Given the description of an element on the screen output the (x, y) to click on. 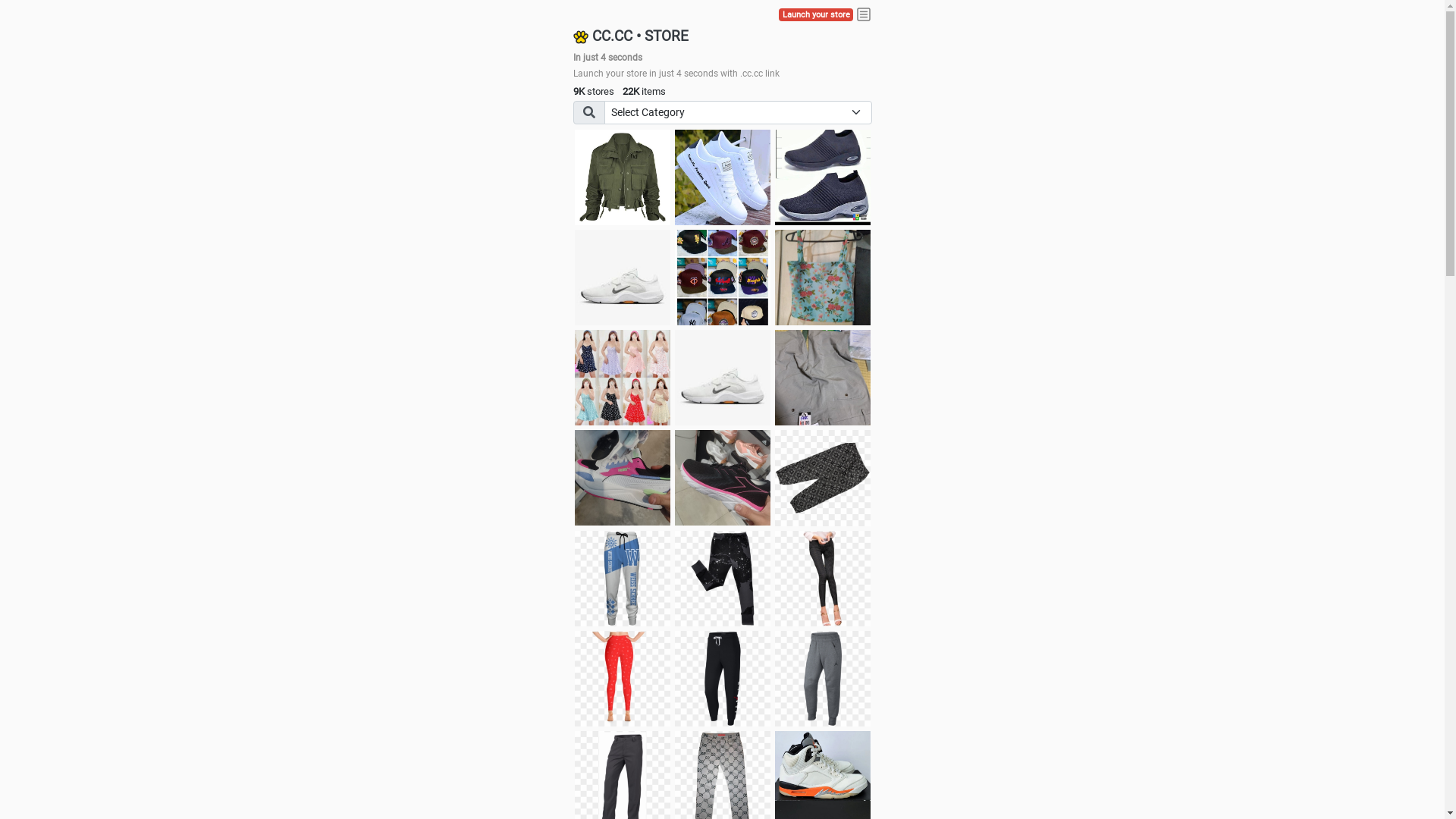
Pant Element type: hover (822, 678)
Pant Element type: hover (722, 578)
Short pant Element type: hover (822, 477)
Launch your store Element type: text (815, 14)
jacket Element type: hover (622, 177)
Pant Element type: hover (822, 578)
Dress/square nect top Element type: hover (622, 377)
Shoes for boys Element type: hover (622, 277)
Zapatillas Element type: hover (722, 477)
Ukay cloth Element type: hover (822, 277)
Shoes Element type: hover (722, 377)
Pant Element type: hover (622, 678)
white shoes Element type: hover (722, 177)
Pant Element type: hover (722, 678)
Things we need Element type: hover (722, 277)
shoes for boys Element type: hover (822, 177)
Zapatillas pumas Element type: hover (622, 477)
Pant Element type: hover (622, 578)
